Given the description of an element on the screen output the (x, y) to click on. 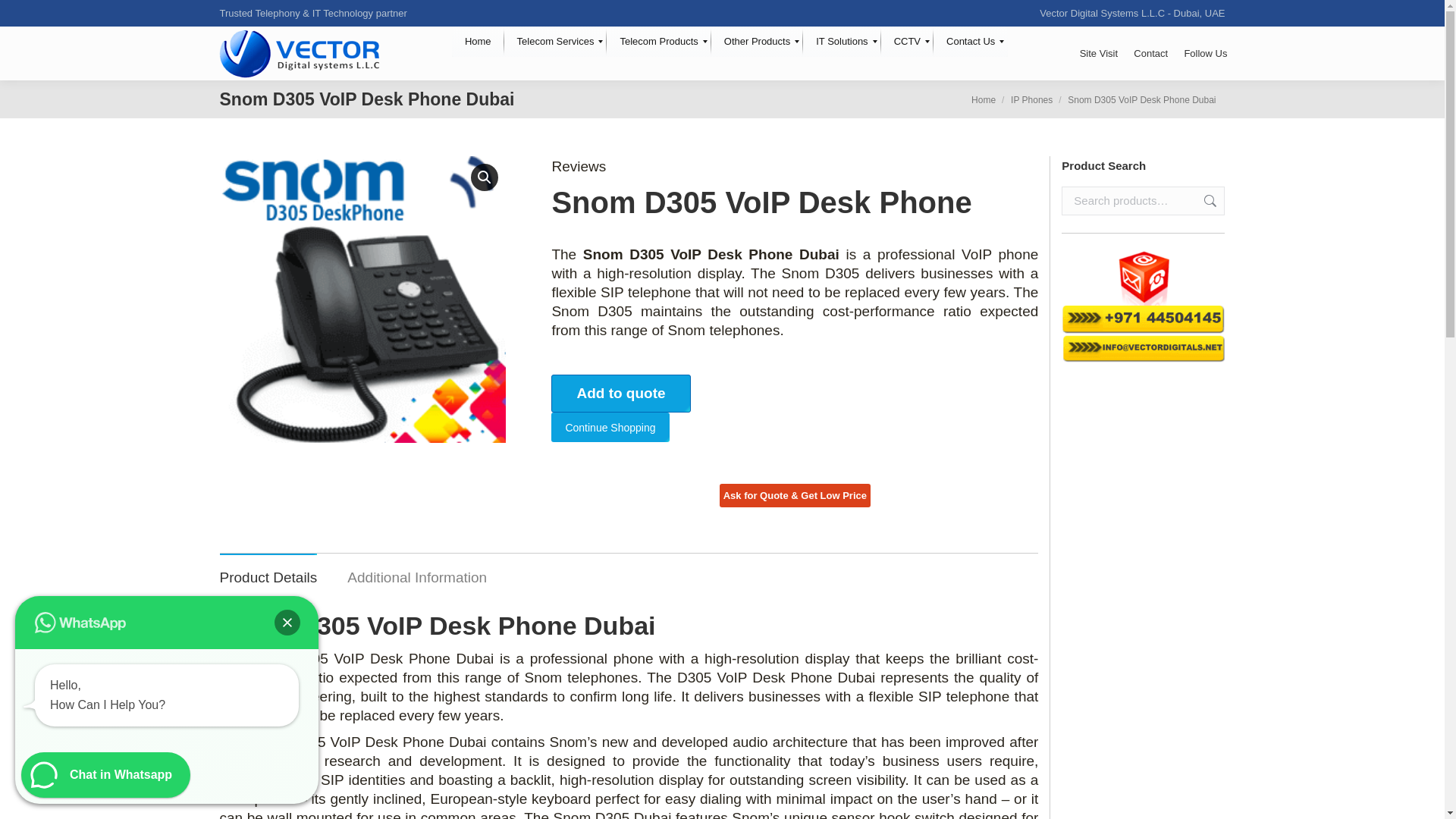
IP Phones (1031, 99)
Home (983, 99)
Close (287, 622)
Home (477, 41)
Snom-D305-Desk-Phone-Dubai-UAE (362, 299)
Telecom Services (555, 41)
Telecom Products (658, 41)
